Given the description of an element on the screen output the (x, y) to click on. 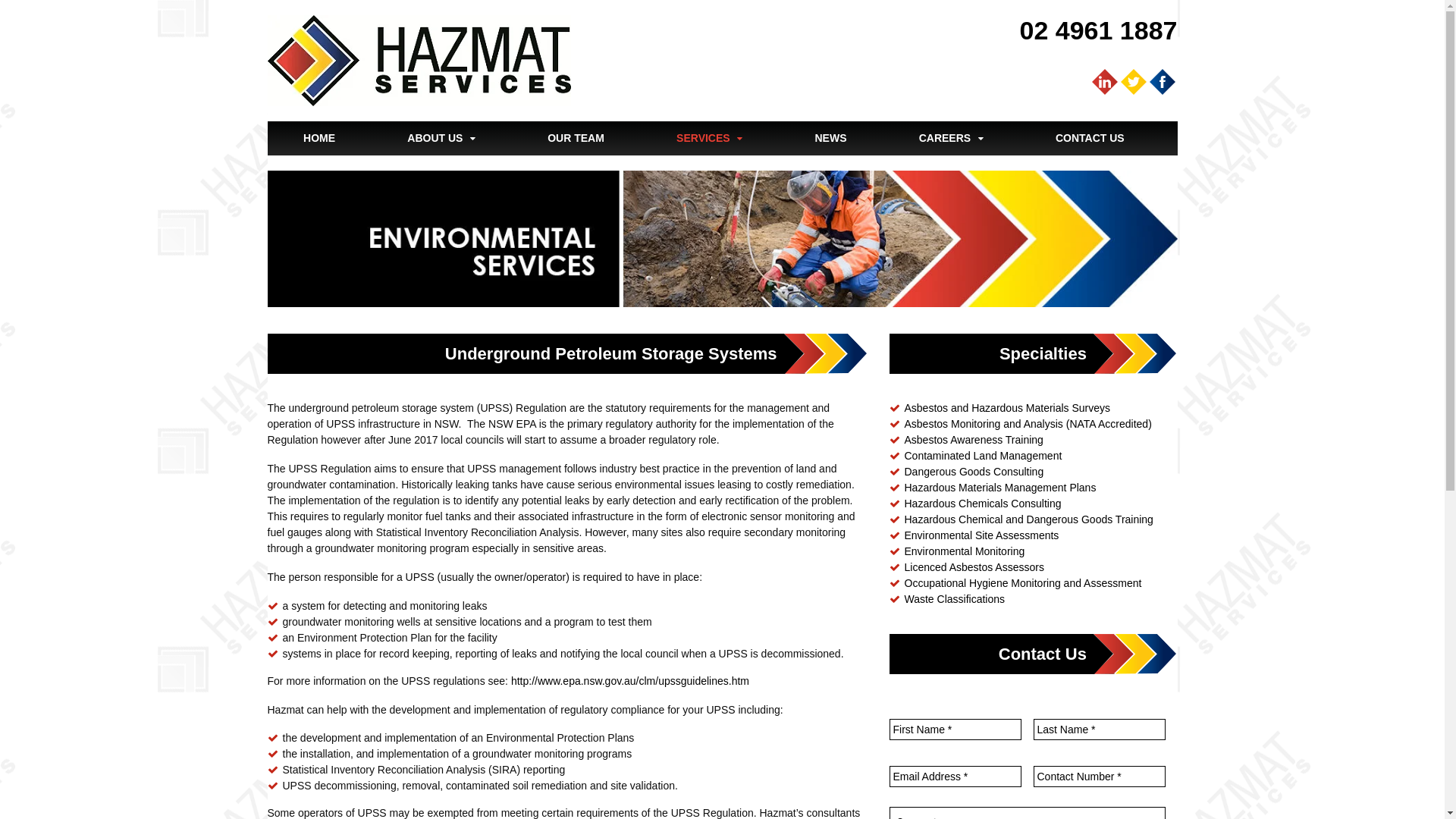
Environmental Monitoring Element type: text (963, 551)
HOME Element type: text (318, 138)
CAREERS Element type: text (950, 138)
Hazardous Materials Management Plans Element type: text (999, 487)
Asbestos and Hazardous Materials Surveys Element type: text (1006, 407)
Hazardous Chemicals Consulting Element type: text (981, 503)
Environmental Site Assessments Element type: text (980, 535)
ABOUT US Element type: text (441, 138)
Hazardous Chemical and Dangerous Goods Training Element type: text (1027, 519)
NEWS Element type: text (830, 138)
http://www.epa.nsw.gov.au/clm/upssguidelines.htm Element type: text (630, 680)
Occupational Hygiene Monitoring and Assessment Element type: text (1022, 583)
CONTACT US Element type: text (1089, 138)
Heading Banner - Environmental Services Element type: hover (721, 238)
02 4961 1887 Element type: text (1098, 29)
Waste Classifications Element type: text (953, 599)
Contaminated Land Management Element type: text (982, 455)
Asbestos Monitoring and Analysis (NATA Accredited) Element type: text (1027, 423)
Dangerous Goods Consulting Element type: text (973, 471)
SERVICES Element type: text (709, 138)
Licenced Asbestos Assessors Element type: text (973, 567)
OUR TEAM Element type: text (575, 138)
Asbestos Awareness Training Element type: text (972, 439)
